Given the description of an element on the screen output the (x, y) to click on. 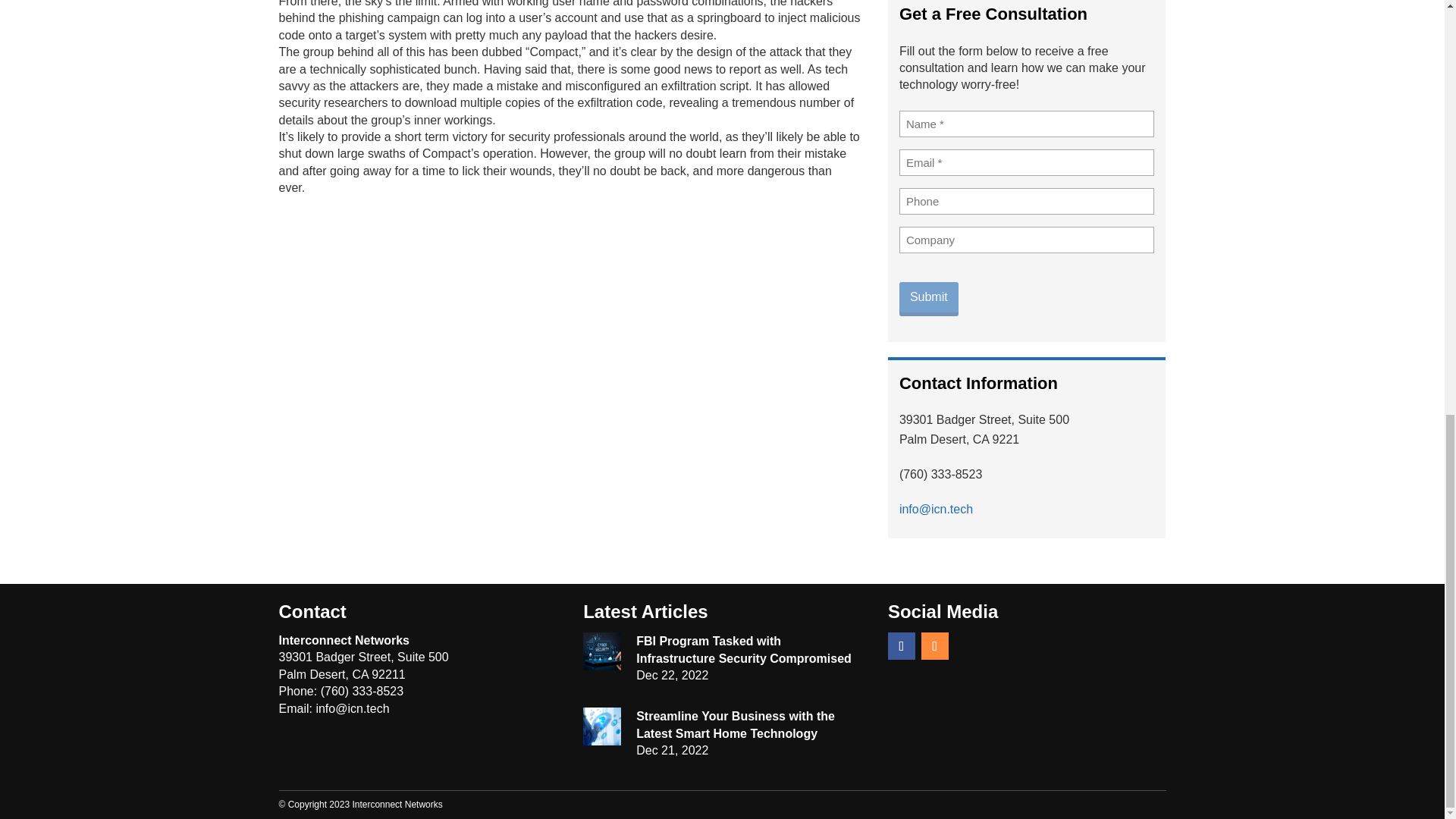
Follow on RSS (935, 646)
Follow on Facebook (901, 646)
Submit (928, 296)
